Given the description of an element on the screen output the (x, y) to click on. 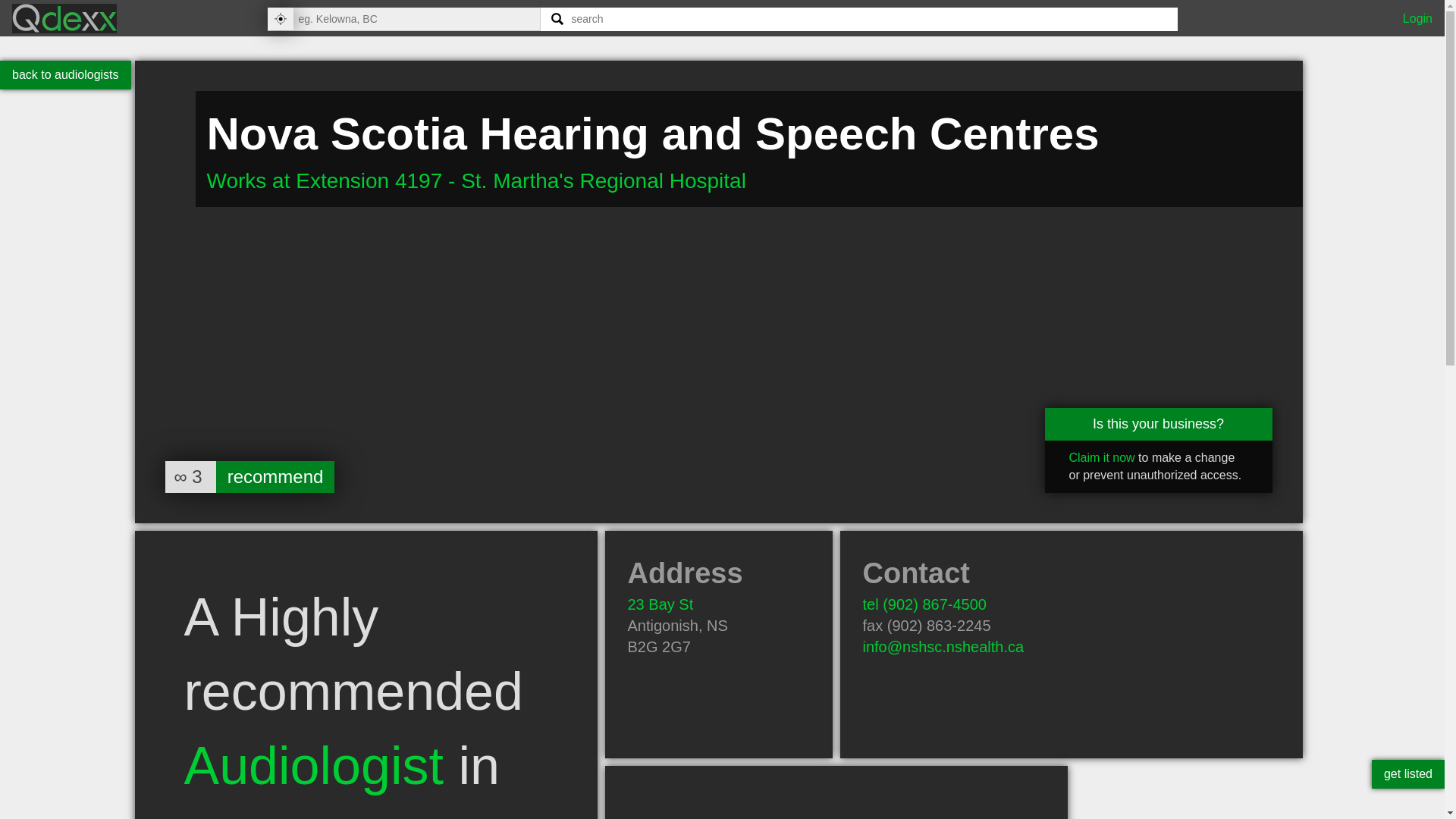
Claim it now (1101, 457)
Login (1417, 18)
back to audiologists (65, 74)
recommend (274, 477)
Use location services to find my location (279, 18)
